Given the description of an element on the screen output the (x, y) to click on. 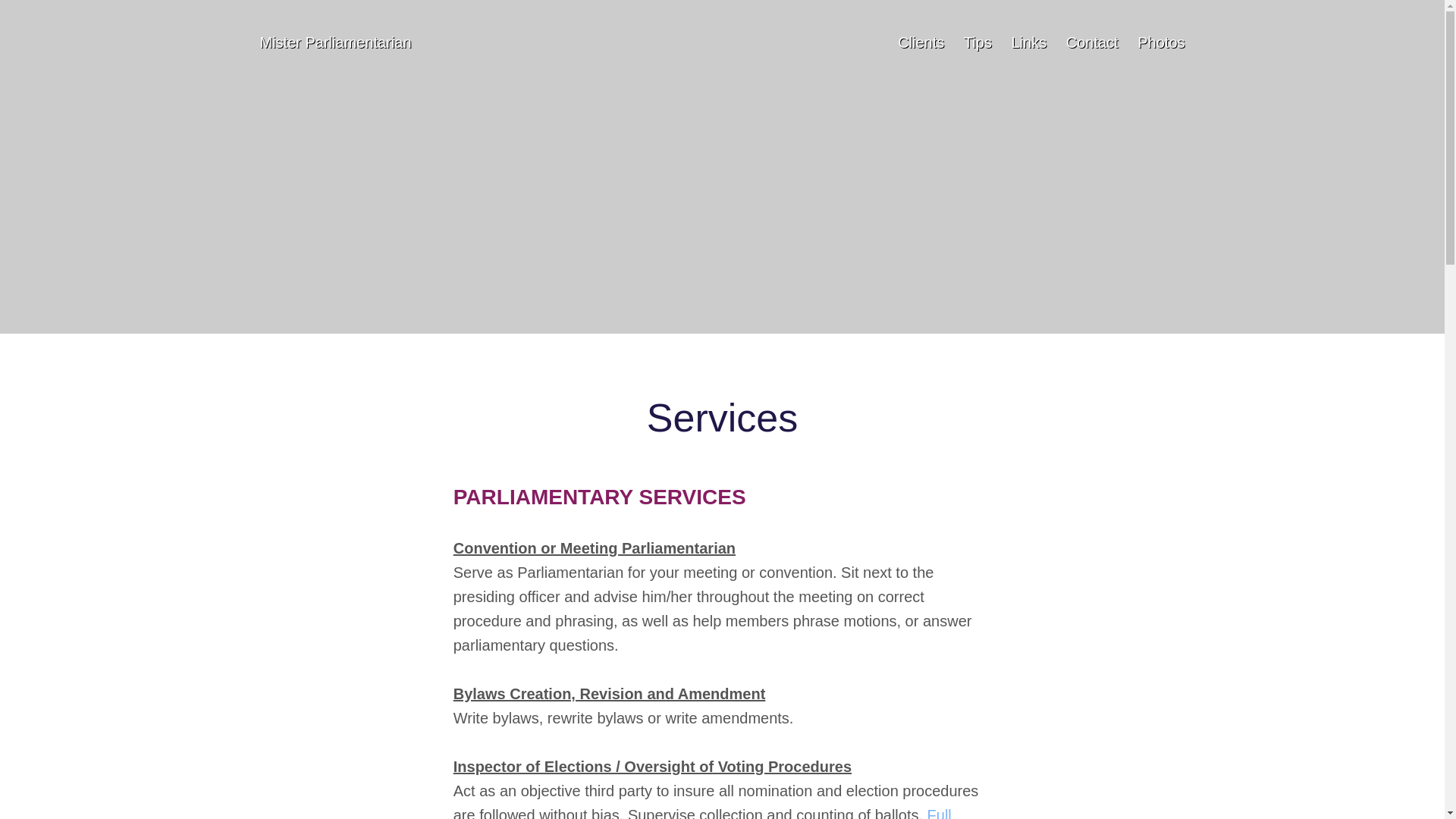
Photos (1161, 42)
Links (1028, 42)
Full compliance with Davis Stirling Act (702, 812)
Contact (1091, 42)
Tips (977, 42)
Clients (920, 42)
Mister Parliamentarian (334, 42)
